Given the description of an element on the screen output the (x, y) to click on. 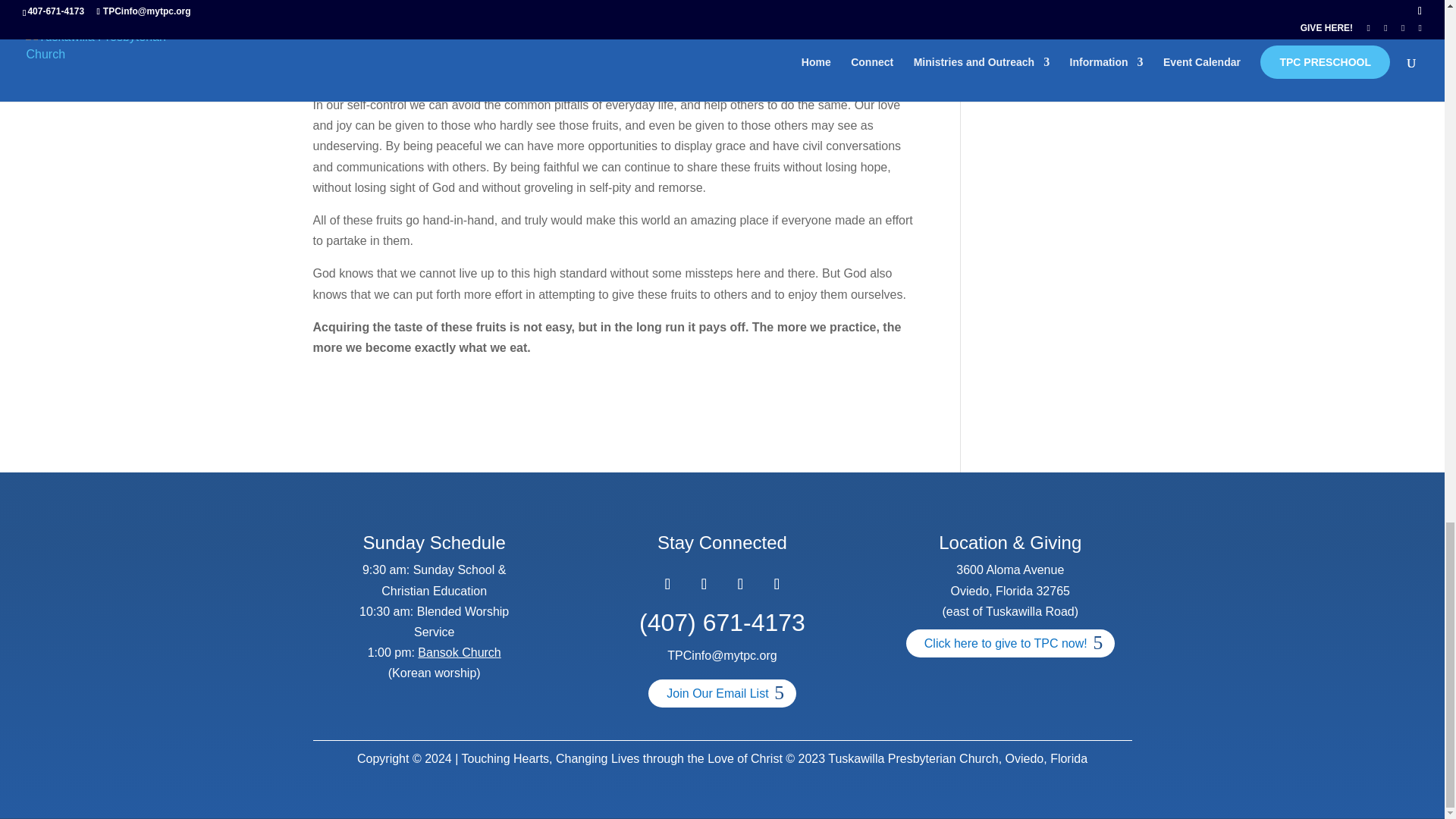
Click here to give to TPC now! (1010, 643)
Follow on Youtube (776, 583)
Join Our Email List (720, 693)
Bansok Church (458, 652)
Follow on X (703, 583)
Follow on Instagram (740, 583)
Follow on Facebook (667, 583)
